Given the description of an element on the screen output the (x, y) to click on. 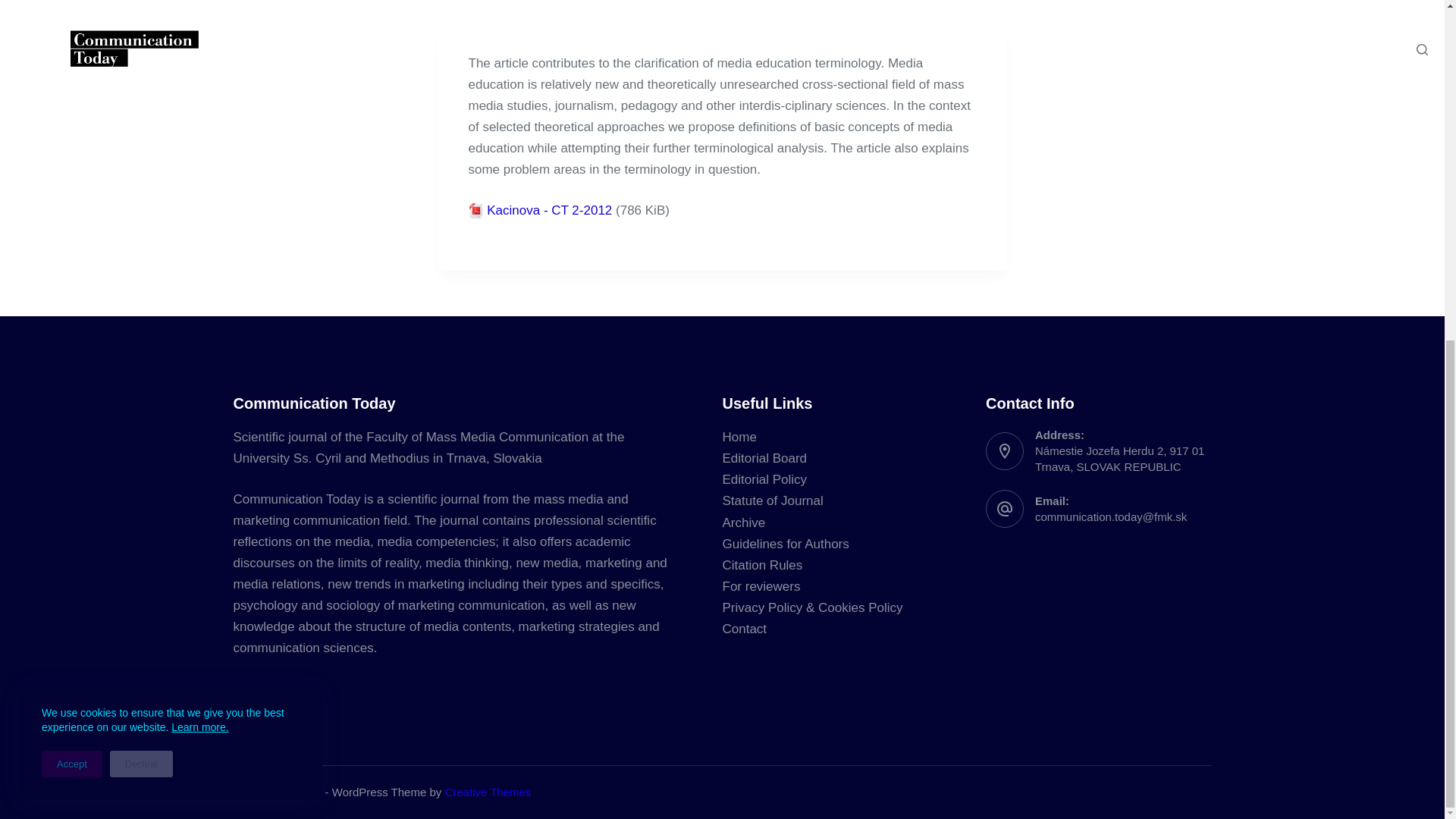
Learn more. (199, 150)
Decline (141, 187)
Accept (71, 187)
Download Kacinova - CT 2-2012 (548, 210)
